Given the description of an element on the screen output the (x, y) to click on. 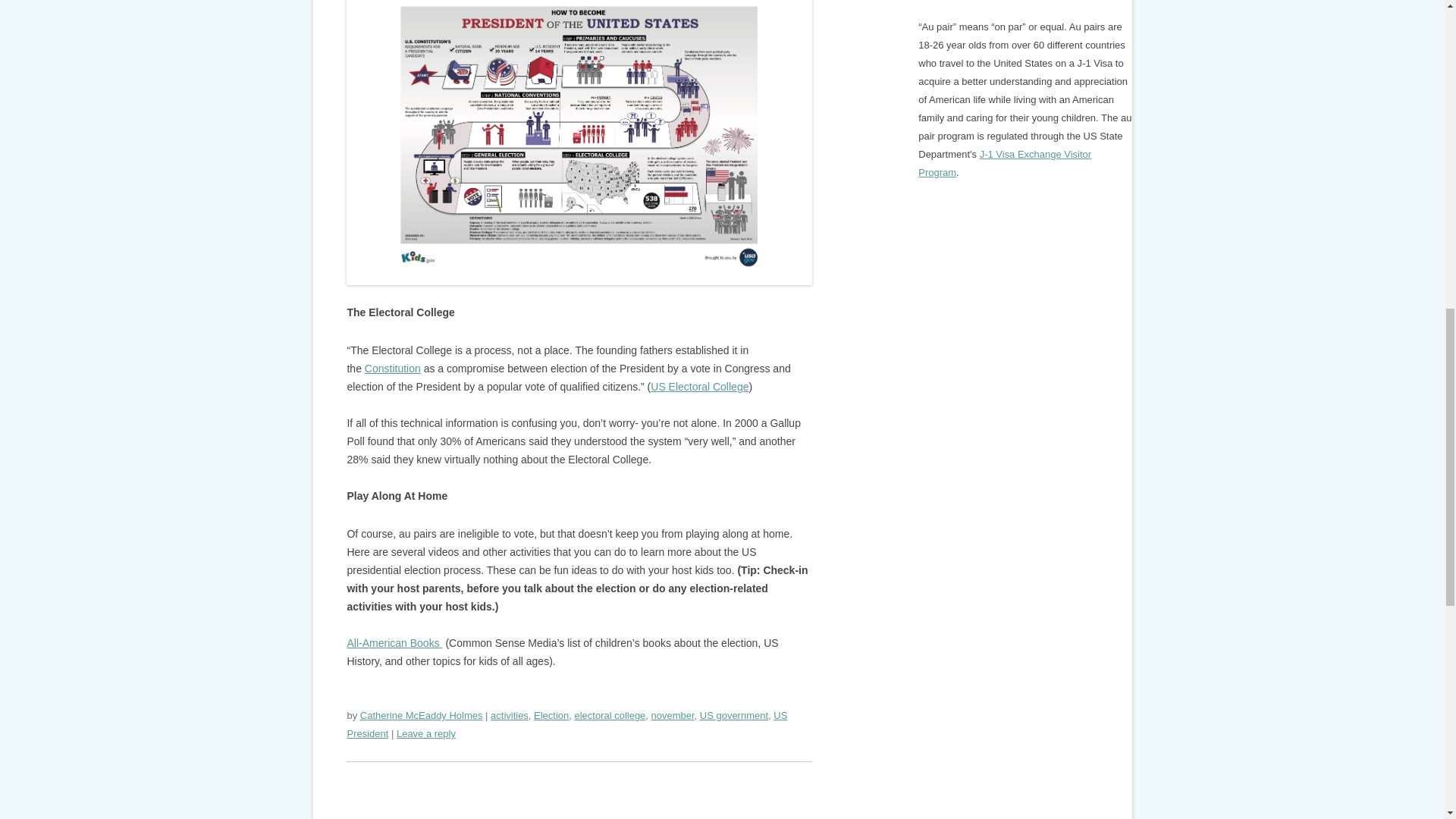
US government (734, 715)
US Electoral College (699, 386)
Constitution (392, 368)
electoral college (610, 715)
All-American Books (394, 643)
november (672, 715)
Election (551, 715)
activities (509, 715)
US President (566, 724)
Catherine McEaddy Holmes (421, 715)
Leave a reply (425, 733)
